Given the description of an element on the screen output the (x, y) to click on. 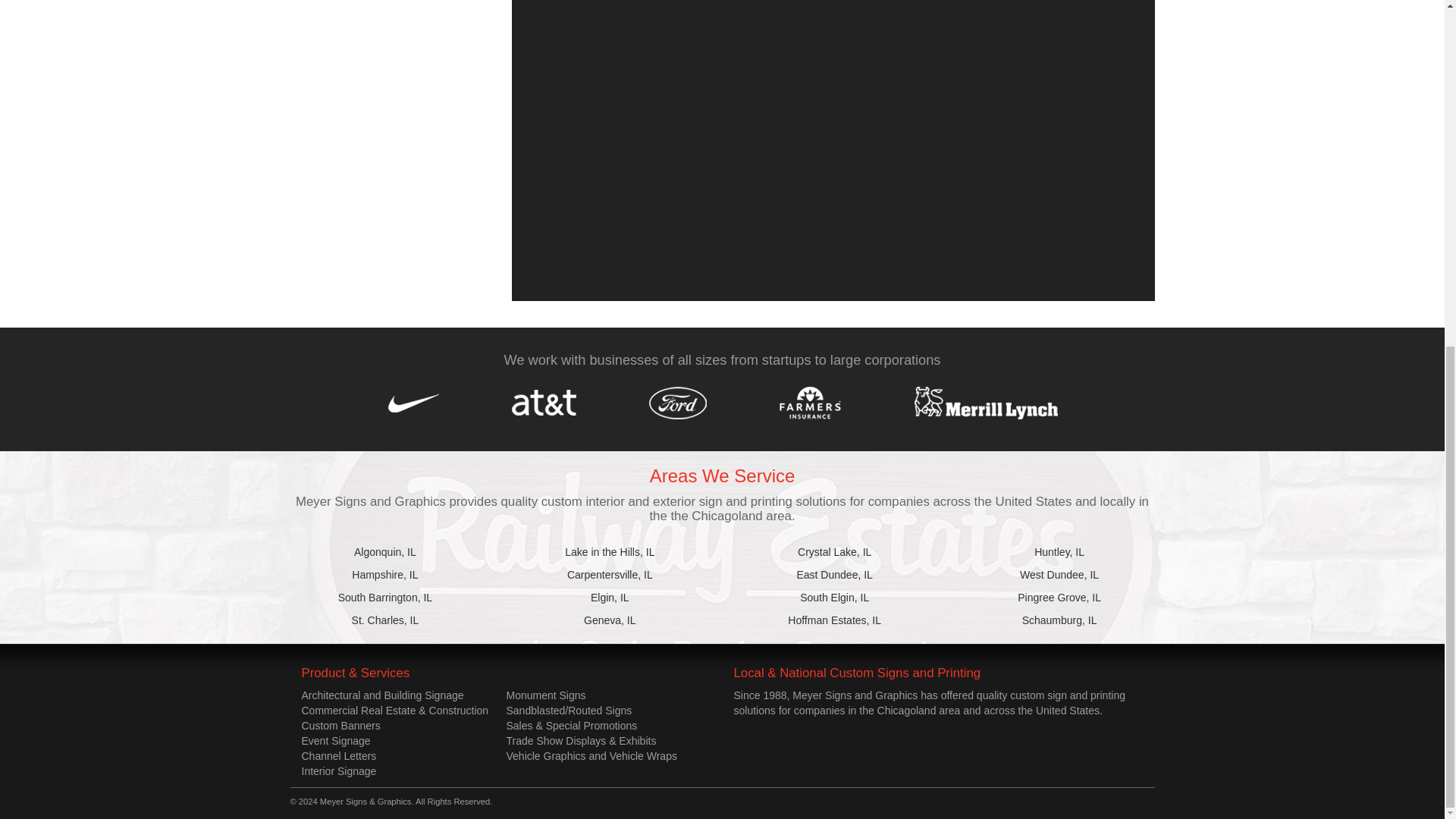
Architectural and Building Signage (382, 695)
Interior Signage (339, 770)
Vehicle Graphics and Vehicle Wraps (591, 756)
Event Signage (336, 740)
Channel Letters (339, 756)
Custom Banners (340, 725)
Monument Signs (546, 695)
